Given the description of an element on the screen output the (x, y) to click on. 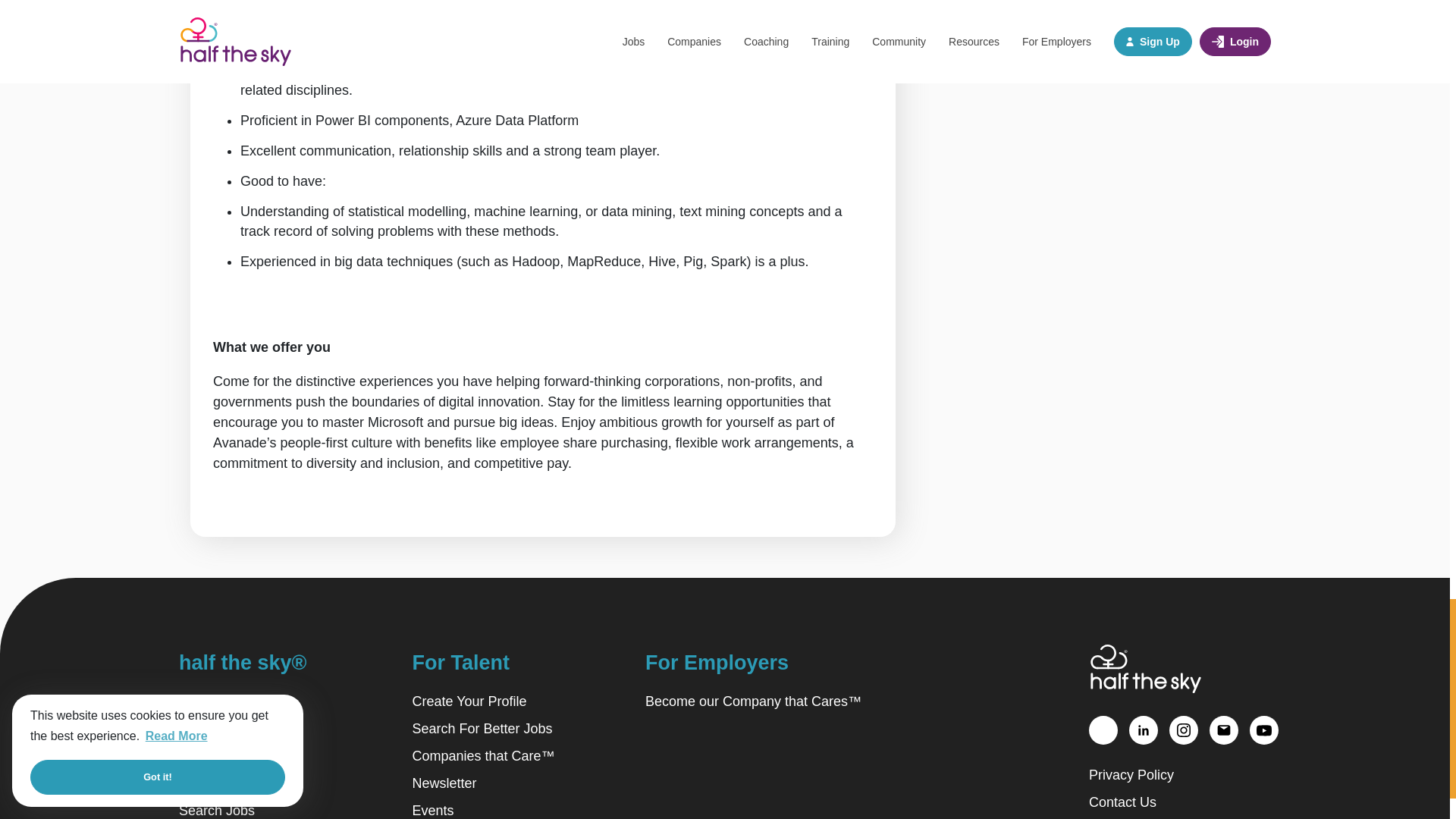
Go to the Homepage (1145, 668)
